Given the description of an element on the screen output the (x, y) to click on. 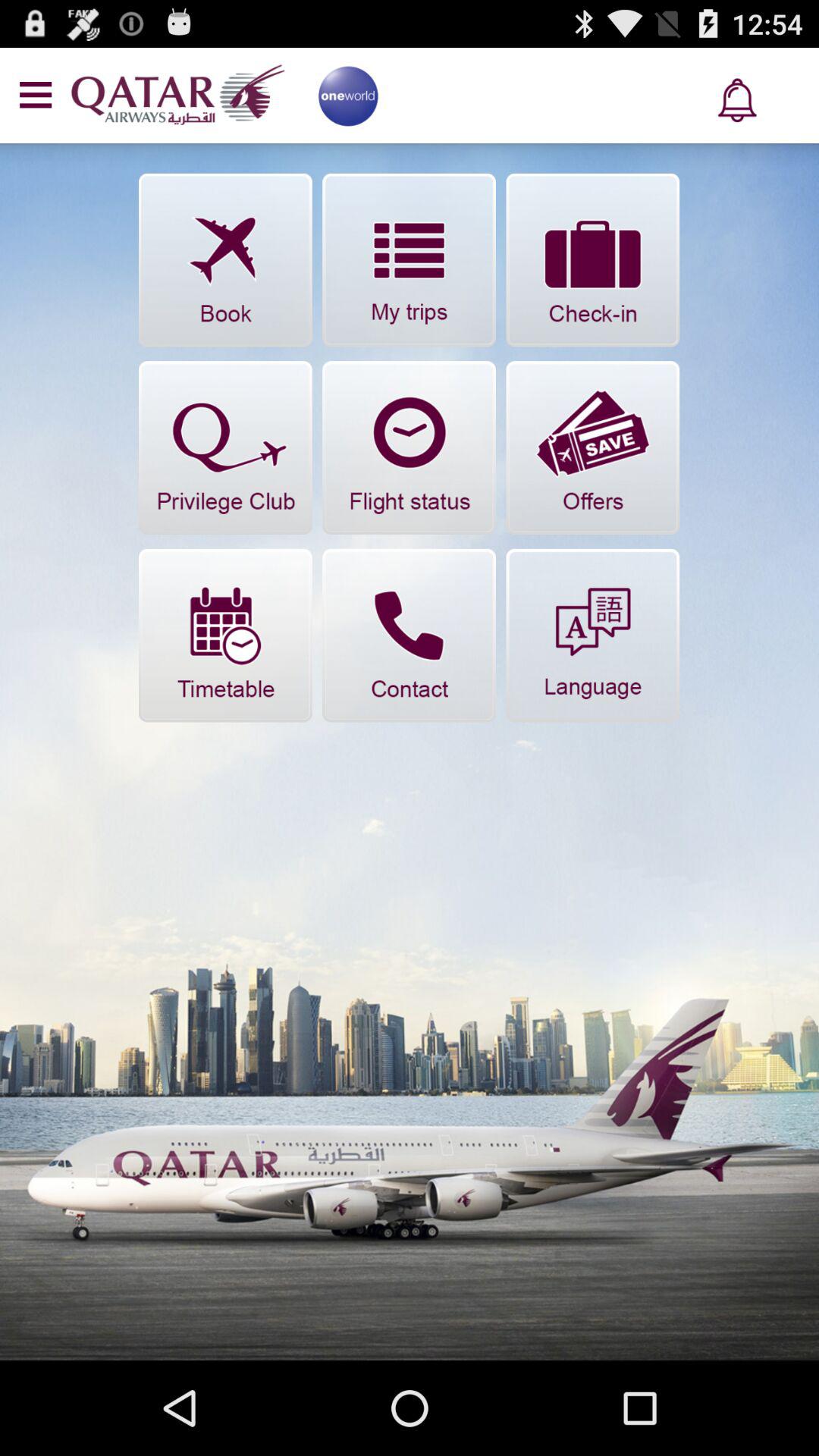
go to your trips (408, 259)
